Given the description of an element on the screen output the (x, y) to click on. 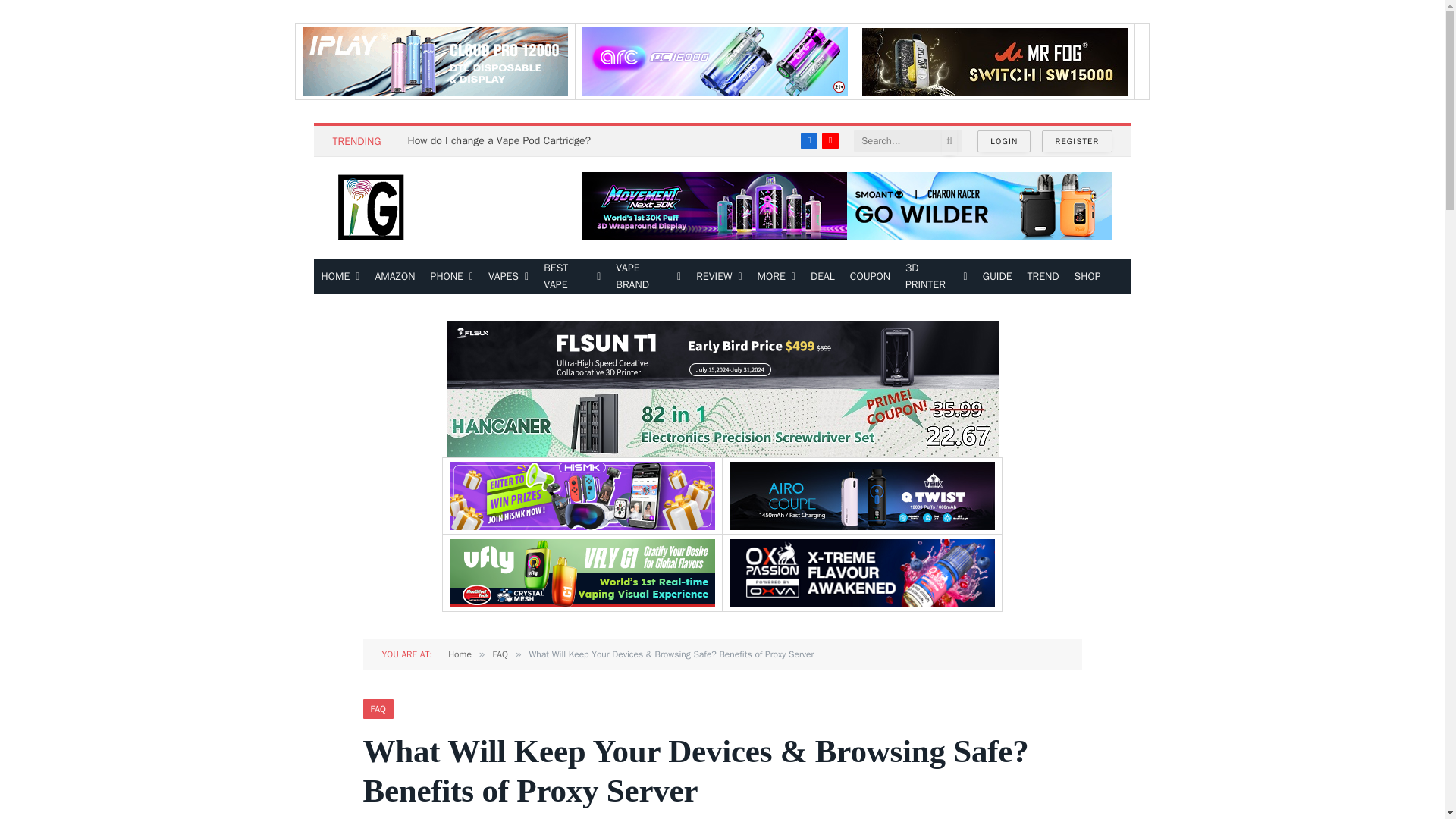
REGISTER (1077, 141)
How do I change a Vape Pod Cartridge? (502, 141)
LOGIN (1003, 141)
AMAZON (394, 276)
Facebook (808, 140)
PHONE (451, 276)
HOME (341, 276)
YouTube (830, 140)
